Given the description of an element on the screen output the (x, y) to click on. 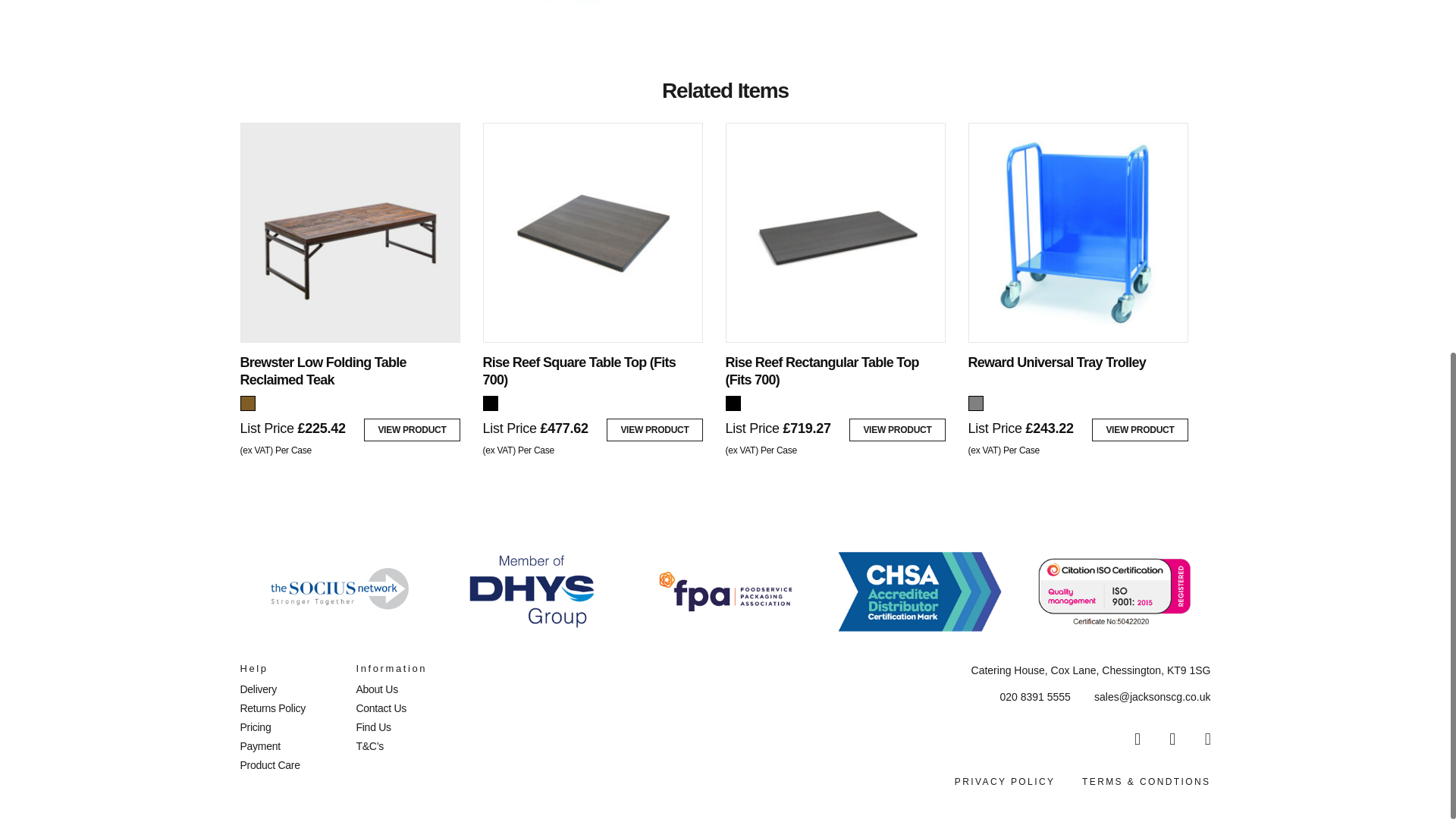
Black (489, 403)
Teak (247, 403)
Black (732, 403)
Grey (975, 403)
28.784.0001 (472, 15)
